Given the description of an element on the screen output the (x, y) to click on. 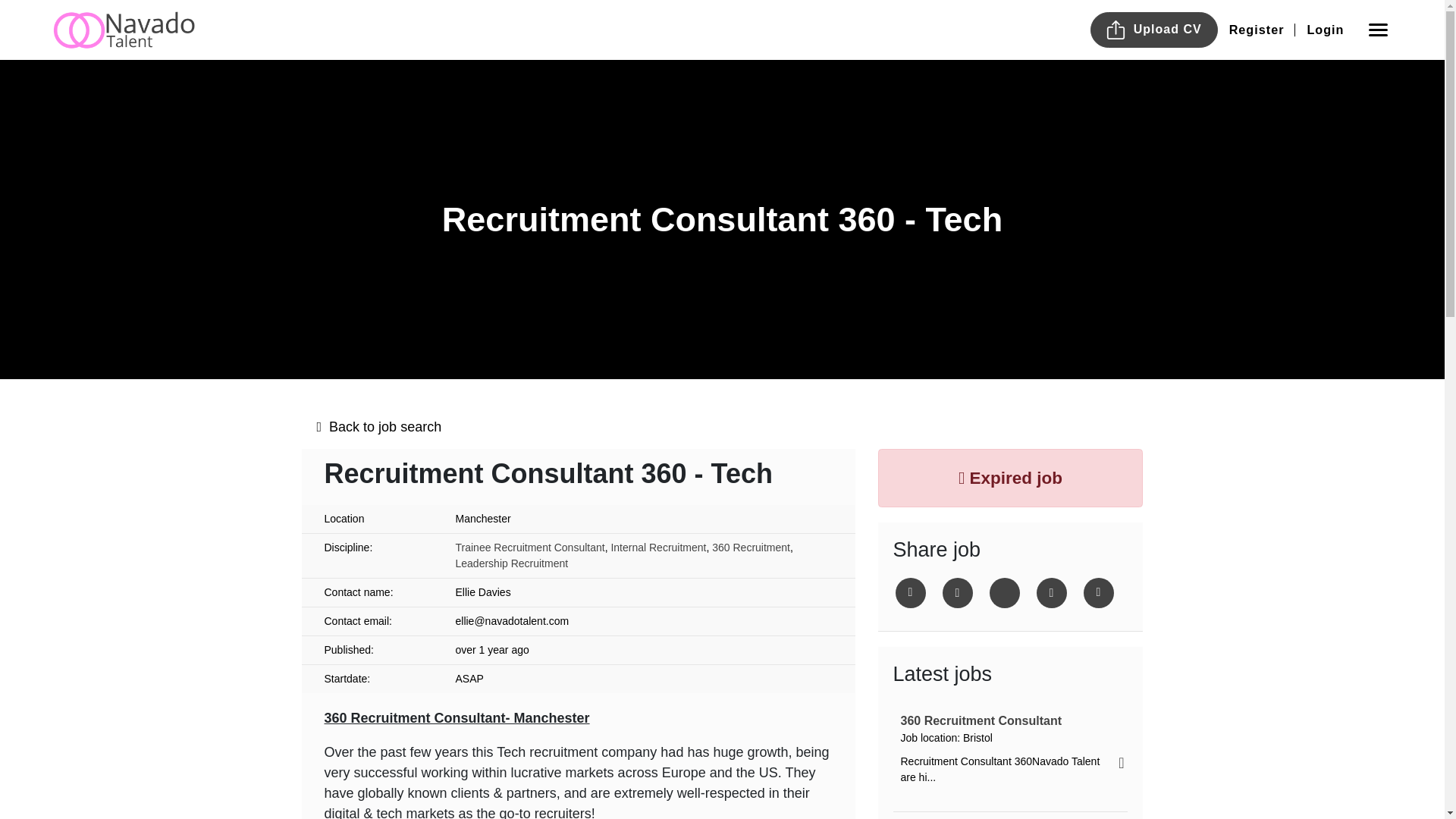
Tweet this (909, 593)
send in Whatsapp (1098, 593)
Upload CV (1153, 29)
Email (1050, 593)
share on LinkedIn (1003, 593)
Trainee Recruitment Consultant (529, 547)
Register (1256, 29)
Leadership Recruitment (510, 563)
share on Facebook (957, 593)
Internal Recruitment (658, 547)
Back to job search (721, 426)
Login (1325, 29)
360 Recruitment (750, 547)
